Given the description of an element on the screen output the (x, y) to click on. 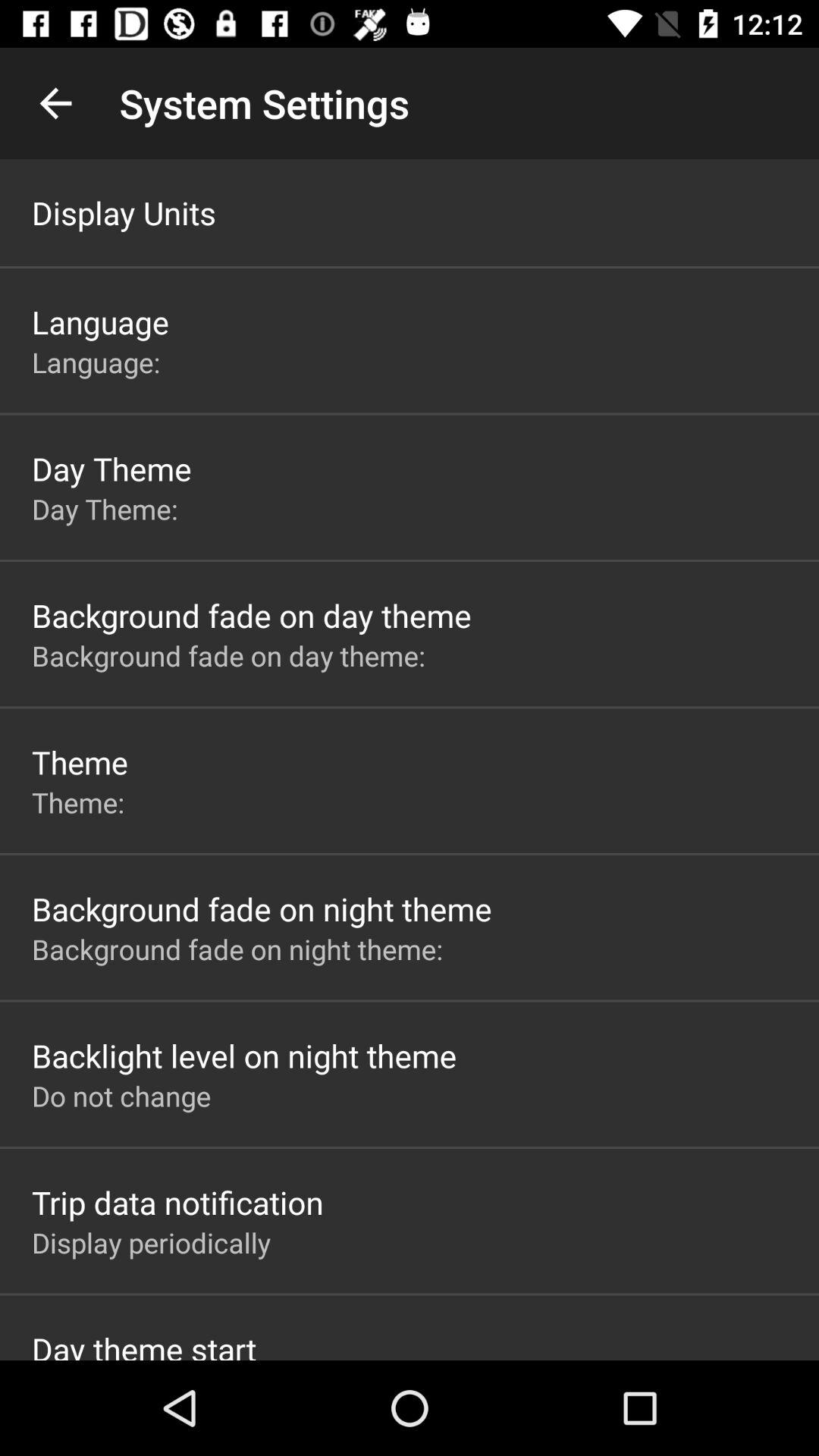
choose the app below trip data notification item (150, 1242)
